Given the description of an element on the screen output the (x, y) to click on. 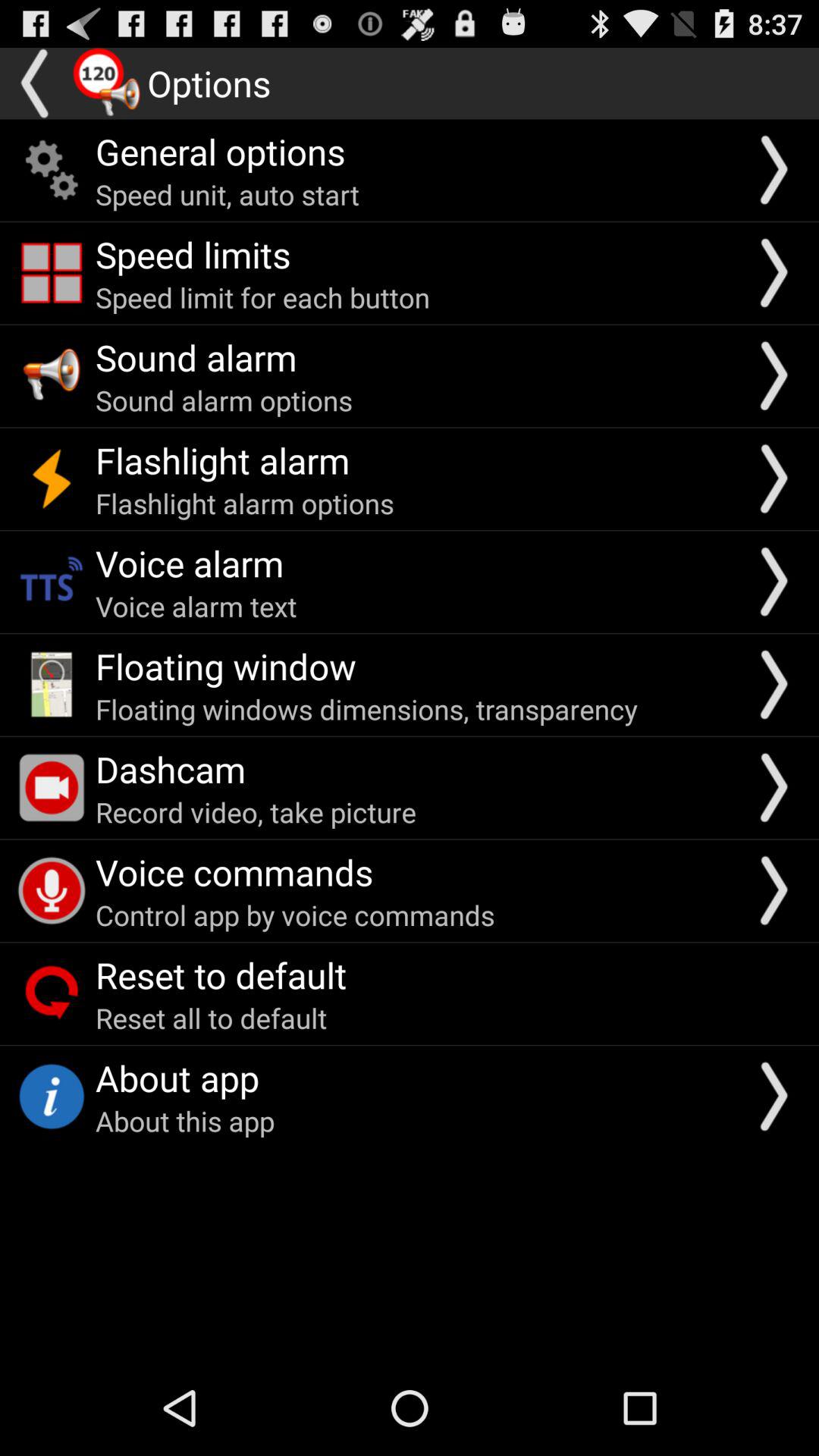
scroll to floating window app (225, 666)
